Given the description of an element on the screen output the (x, y) to click on. 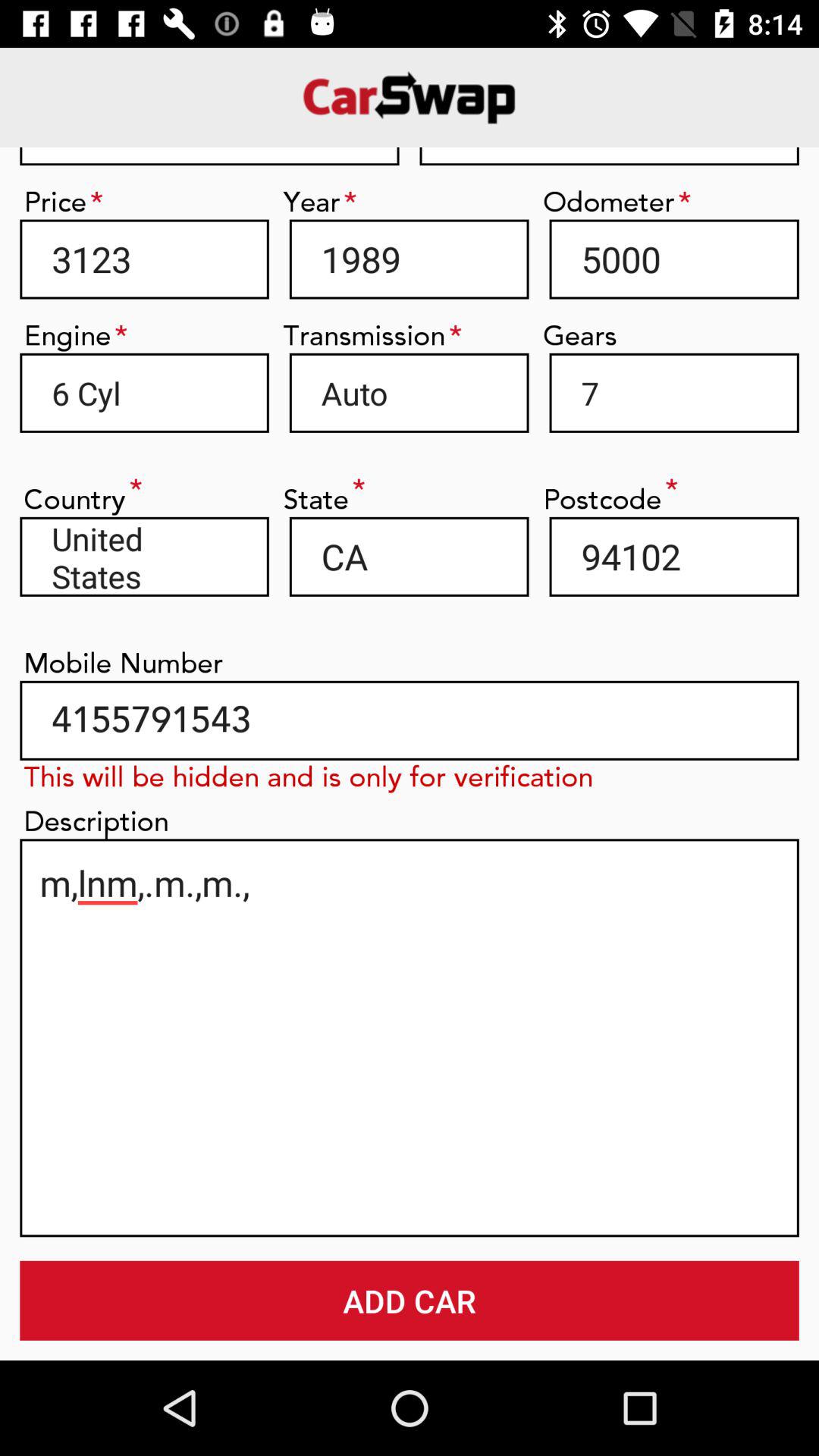
choose the item to the right of 235123 (609, 156)
